Given the description of an element on the screen output the (x, y) to click on. 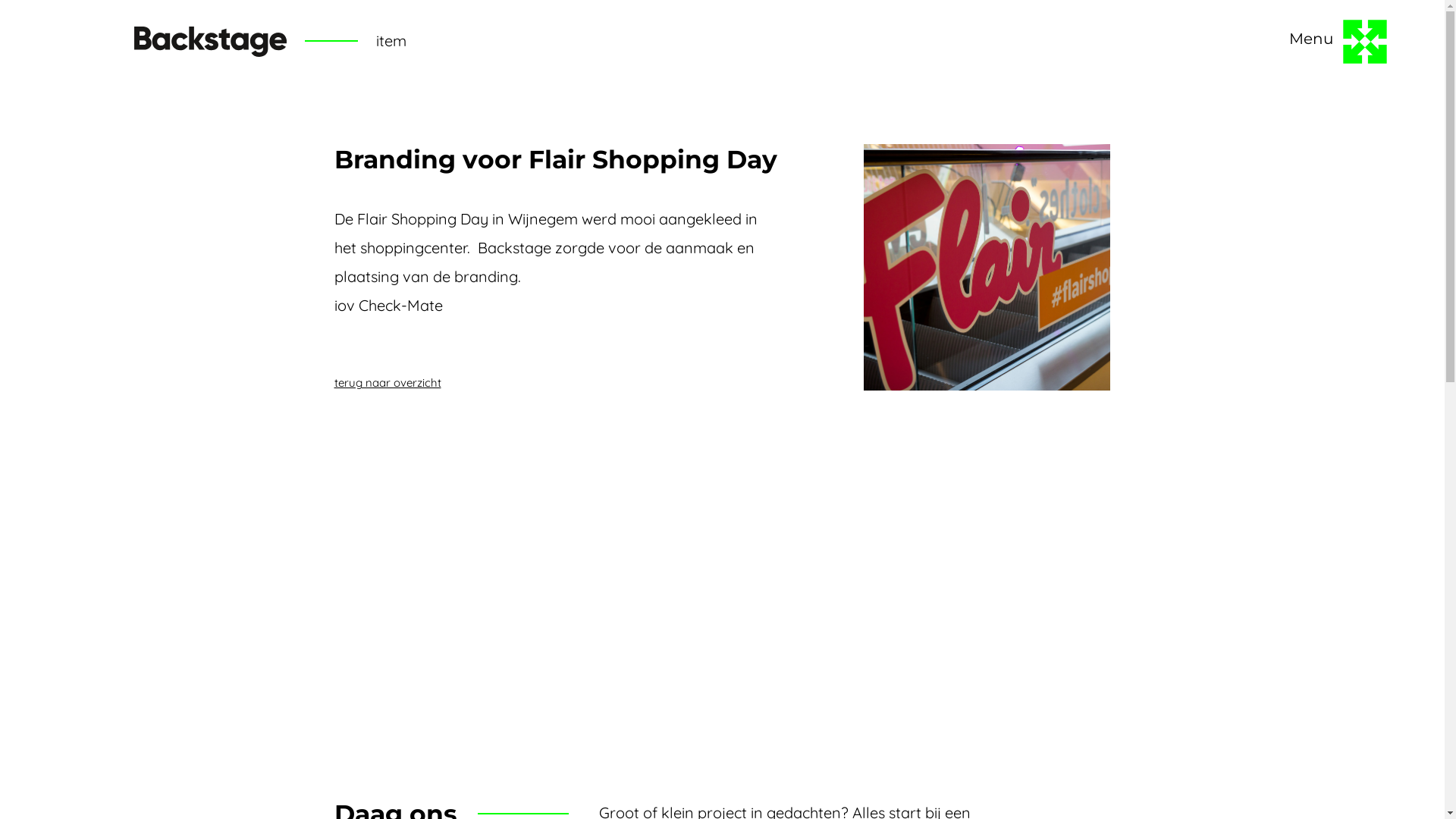
terug naar overzicht Element type: text (386, 382)
